Given the description of an element on the screen output the (x, y) to click on. 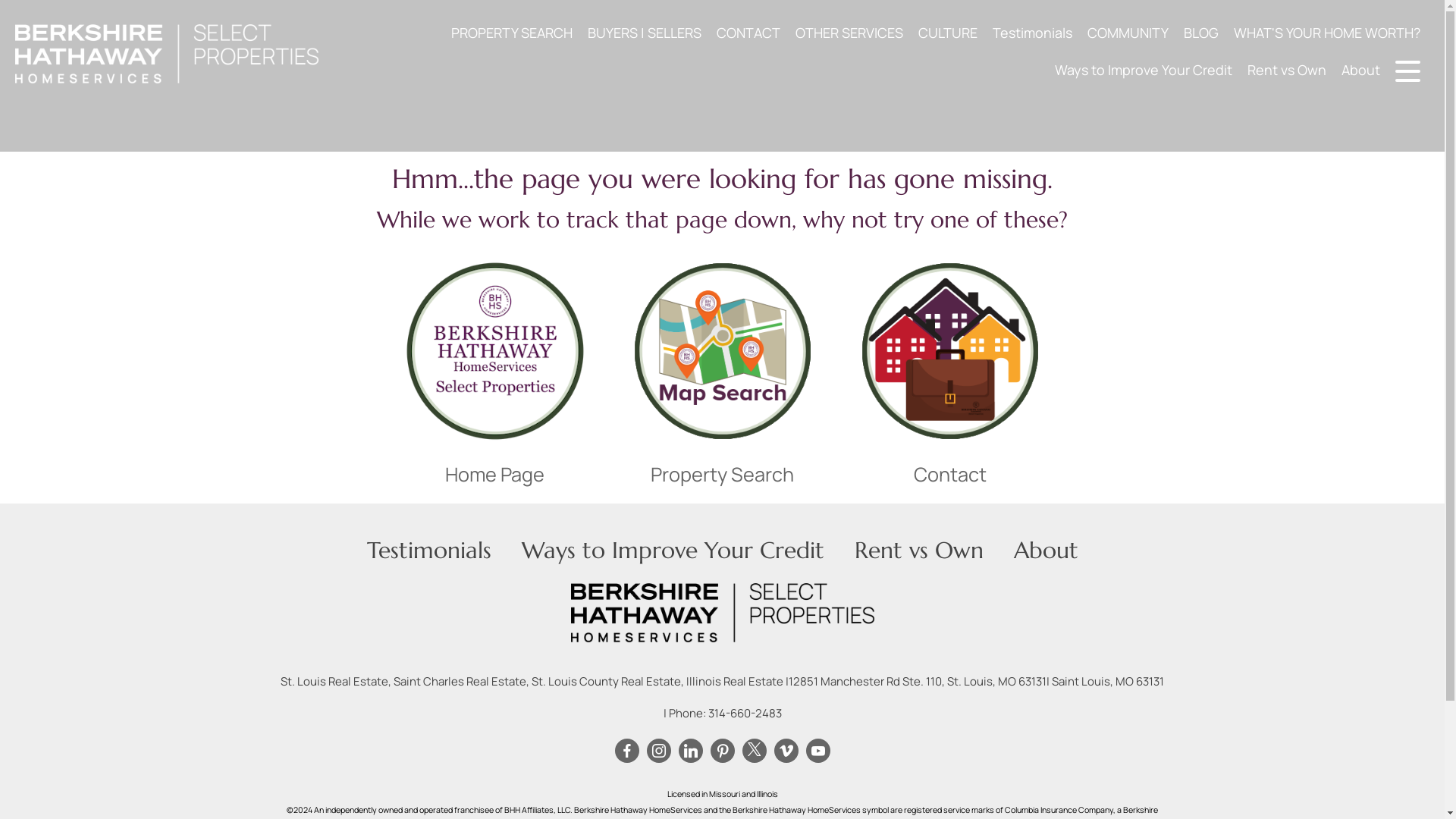
Ways to Improve Your Credit (672, 550)
COMMUNITY (1128, 32)
Testimonials (1032, 32)
Visit me on Pinterest (722, 750)
About (1045, 550)
Visit me on LinkedIn (690, 750)
Visit me on Instagram (658, 750)
Visit me on Facebook (626, 750)
CONTACT (748, 32)
Visit me on Vimeo (785, 750)
